Given the description of an element on the screen output the (x, y) to click on. 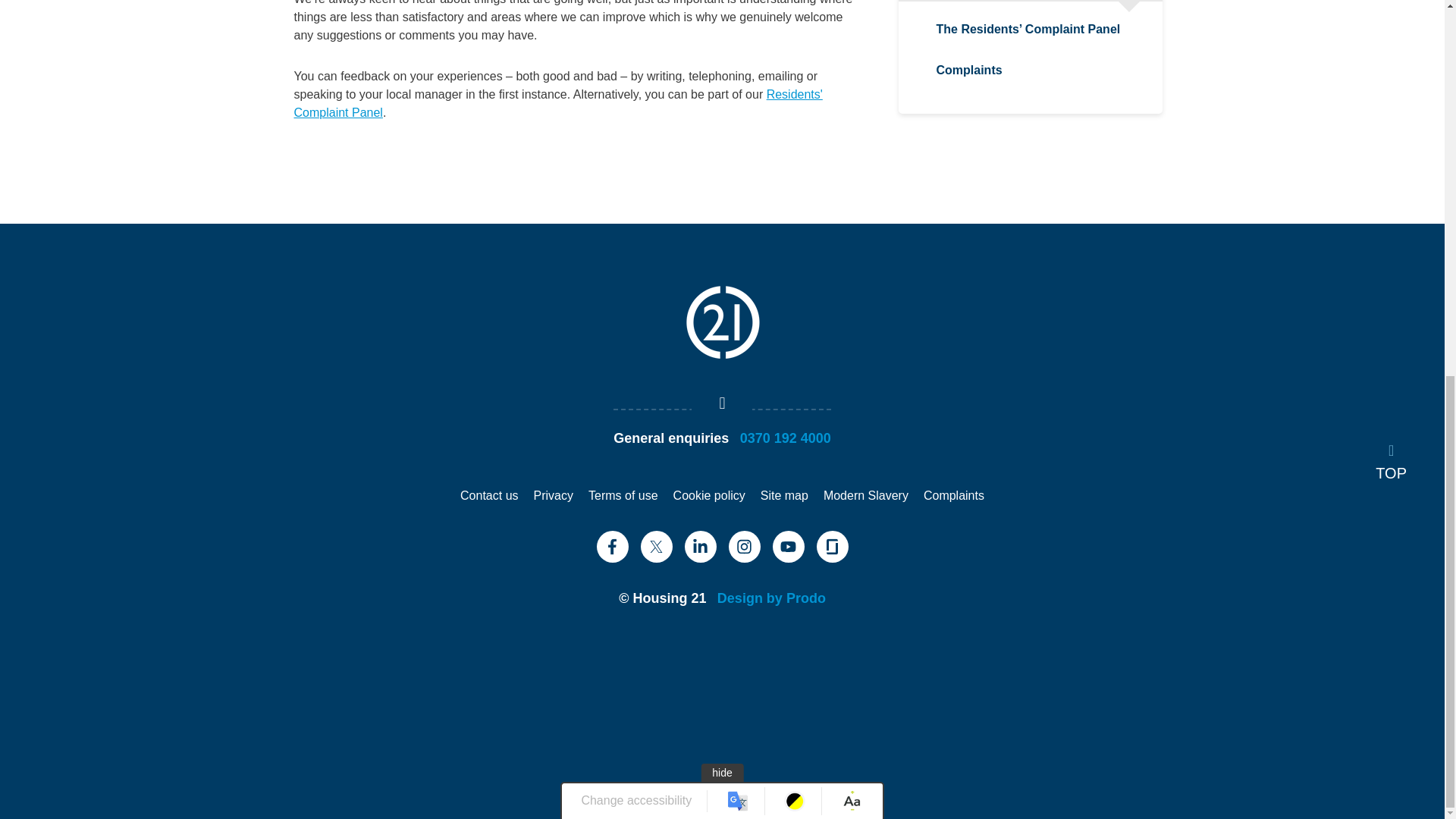
Facebook (611, 546)
LinkedIn (700, 546)
Contact us (489, 495)
Terms of use (623, 495)
Privacy (553, 495)
Twitter (655, 546)
Cookie policy (708, 495)
Site map (784, 495)
Complaints (953, 495)
Modern Slavery (866, 495)
